Given the description of an element on the screen output the (x, y) to click on. 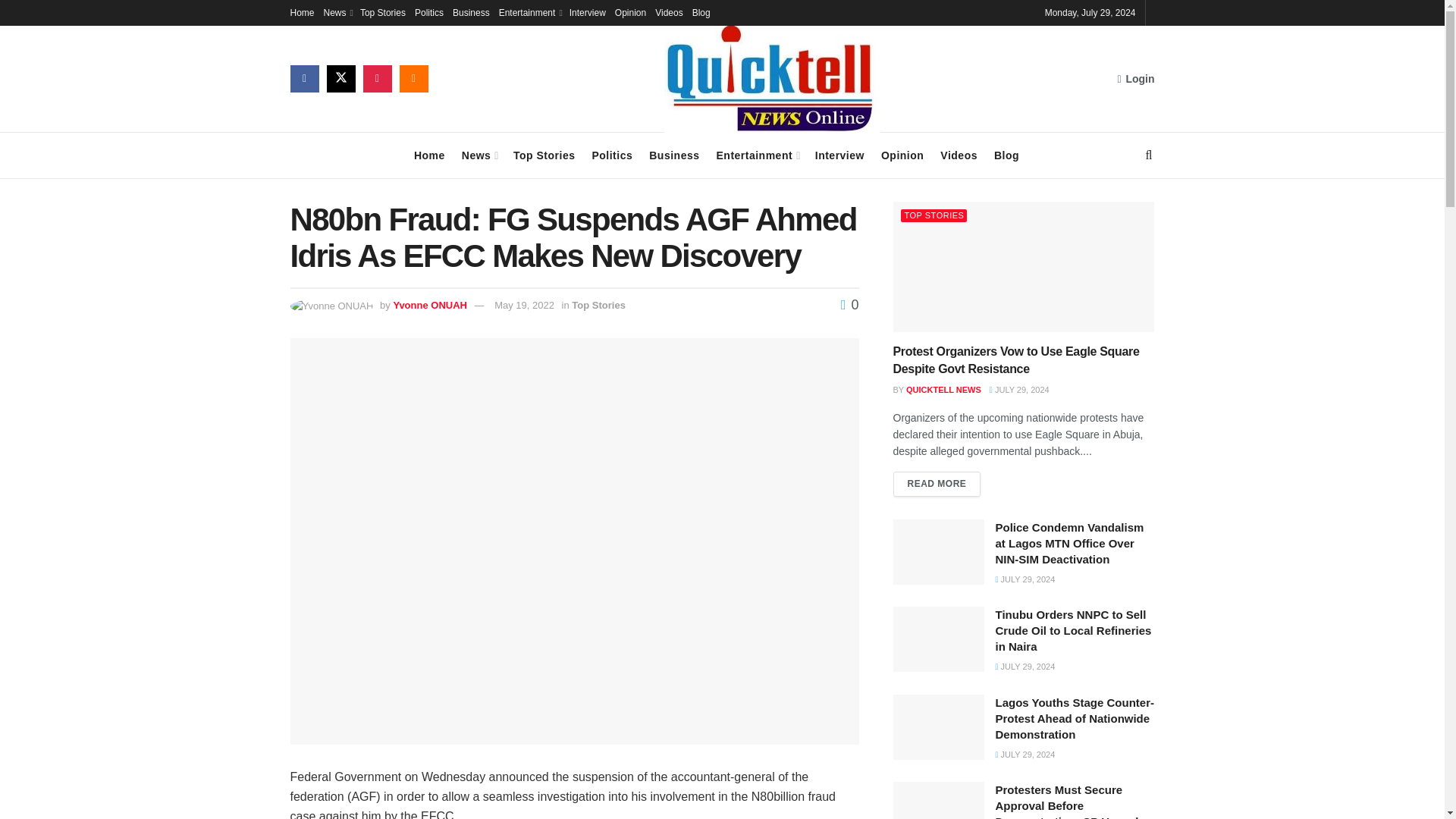
Politics (611, 155)
Videos (668, 12)
Entertainment (756, 155)
Top Stories (544, 155)
Business (673, 155)
Politics (429, 12)
Opinion (630, 12)
Opinion (901, 155)
Business (470, 12)
Entertainment (529, 12)
Home (429, 155)
Top Stories (382, 12)
Videos (958, 155)
Blog (1006, 155)
Home (301, 12)
